Given the description of an element on the screen output the (x, y) to click on. 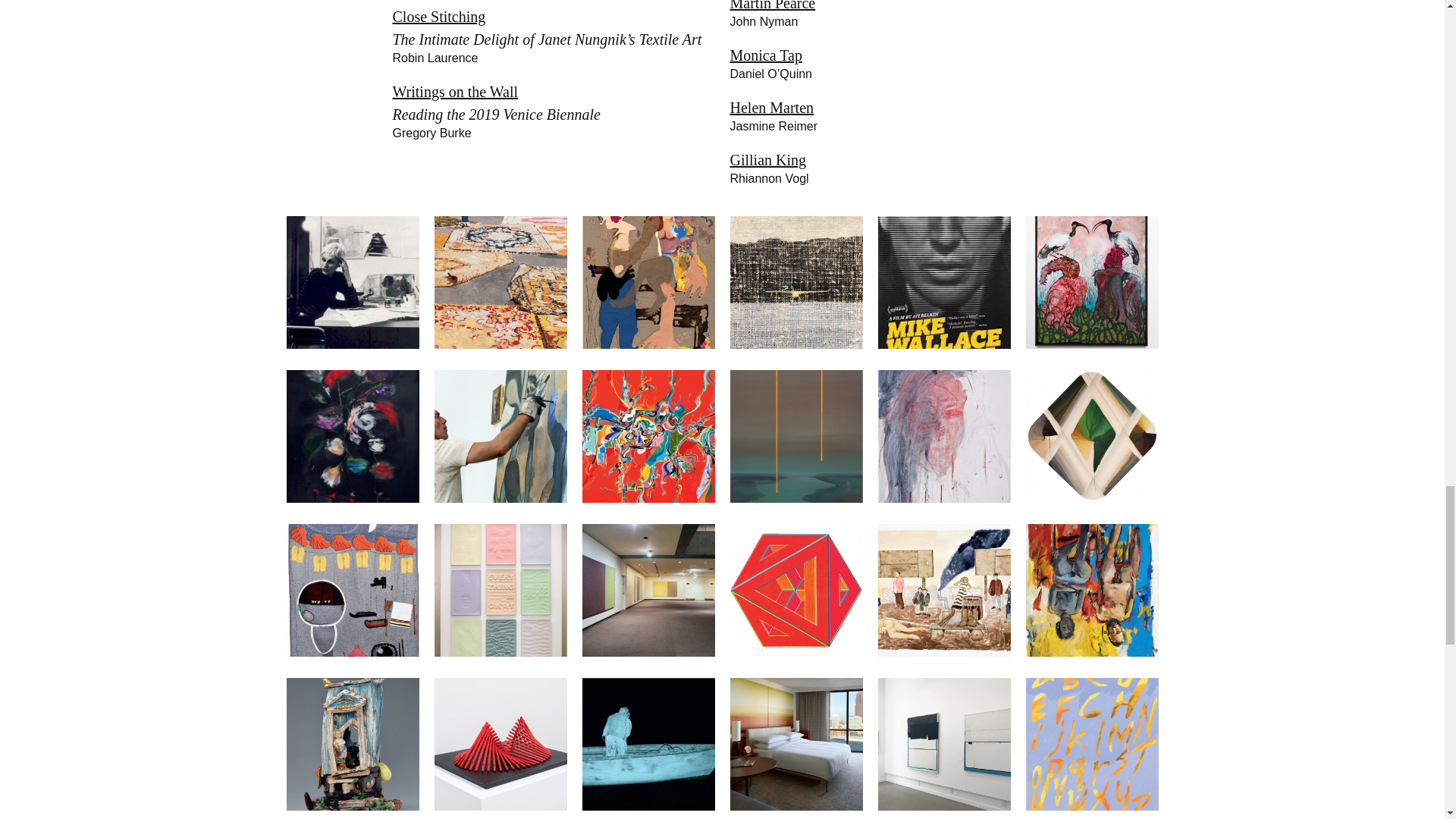
Other Pluralities (1091, 497)
Nancy Spero: Grit and Grace (352, 343)
The Garden and the Jungle (499, 497)
Magic Carpeting (499, 343)
Infra-Mincers (648, 651)
Her and You (943, 497)
The Place of Painting (648, 497)
Reverberating Images (1091, 343)
Close Stitching (352, 651)
Writings on the Wall (455, 91)
Close Stitching (439, 16)
Beautiful Monsters (648, 343)
Writings on the Wall (499, 651)
The Beautiful Lament (795, 497)
The World in a Sanded Grain (795, 343)
